Given the description of an element on the screen output the (x, y) to click on. 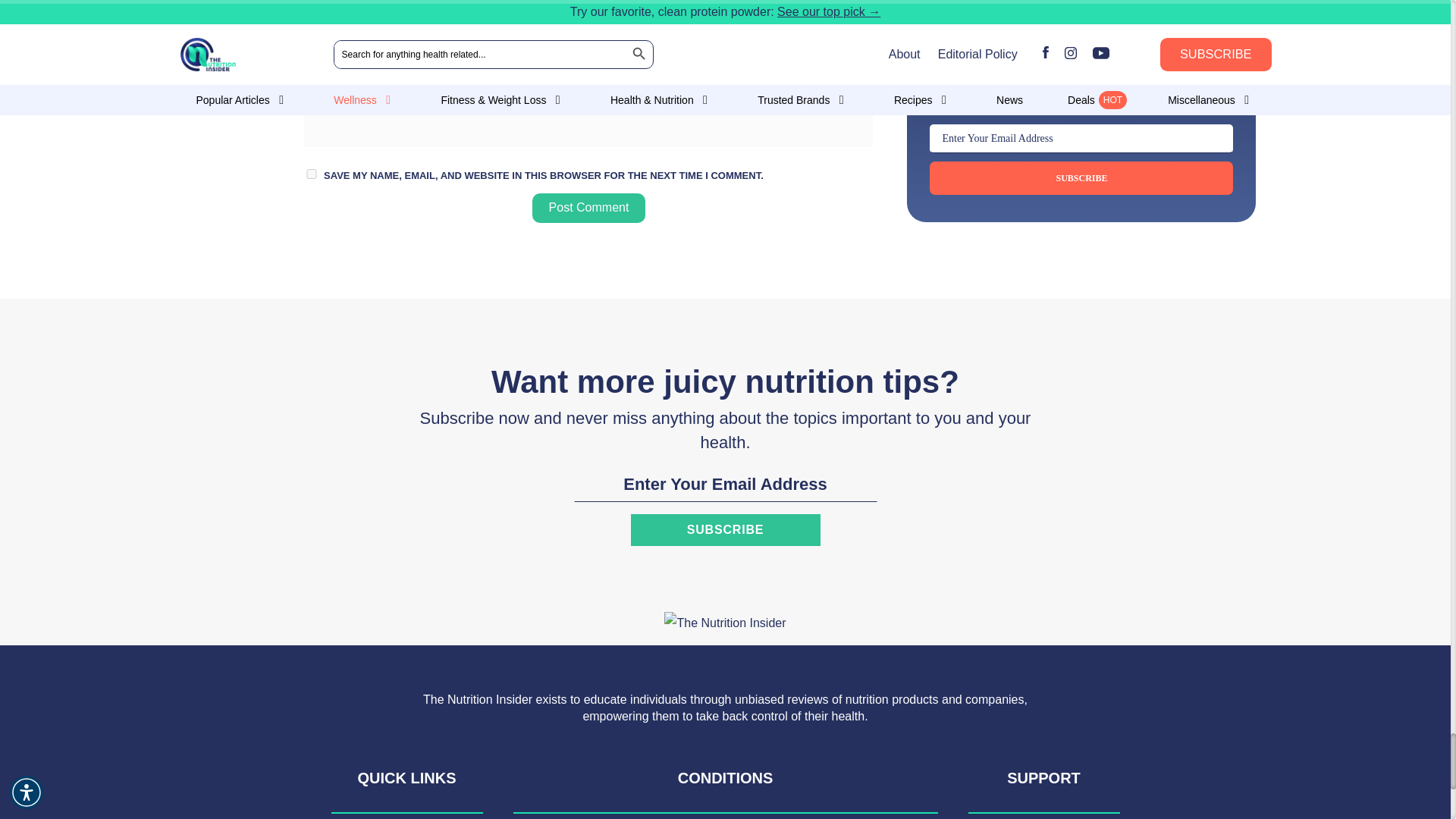
yes (311, 173)
Subscribe (725, 530)
Post Comment (589, 207)
